Given the description of an element on the screen output the (x, y) to click on. 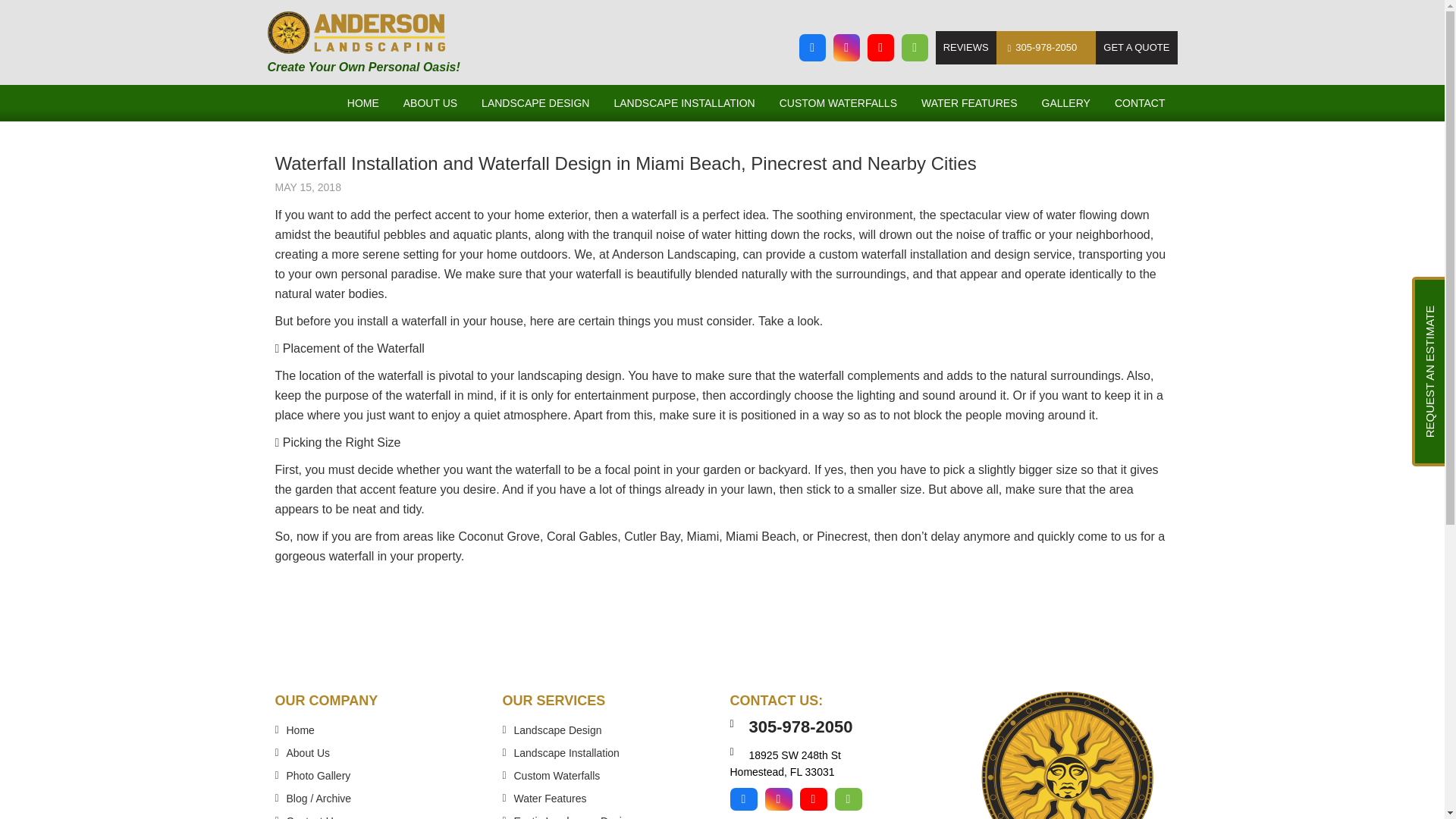
Landscape Installation (566, 752)
Facebook (743, 798)
Contact Us (312, 816)
YouTube (880, 47)
305-978-2050 (1045, 47)
GALLERY (1065, 103)
WATER FEATURES (968, 103)
Instagram (778, 798)
Photo Gallery (318, 775)
Home (300, 729)
